Given the description of an element on the screen output the (x, y) to click on. 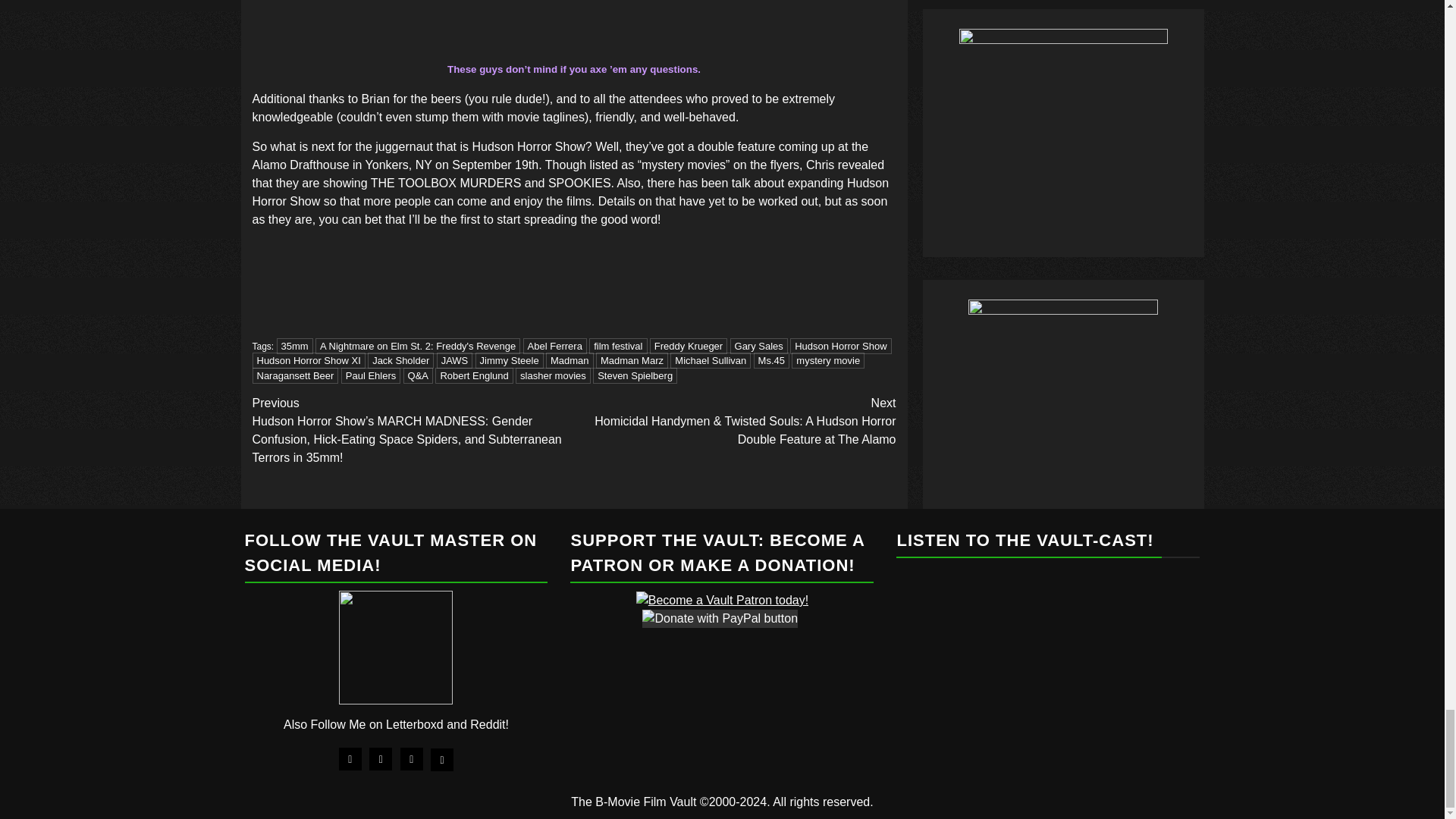
35mm (294, 345)
Gary Sales (758, 345)
Hudson Horror Show XI (308, 360)
Abel Ferrera (554, 345)
PayPal - The safer, easier way to pay online! (719, 618)
film festival (617, 345)
Hudson Horror Show (840, 345)
Freddy Krueger (687, 345)
A Nightmare on Elm St. 2: Freddy's Revenge (417, 345)
